Given the description of an element on the screen output the (x, y) to click on. 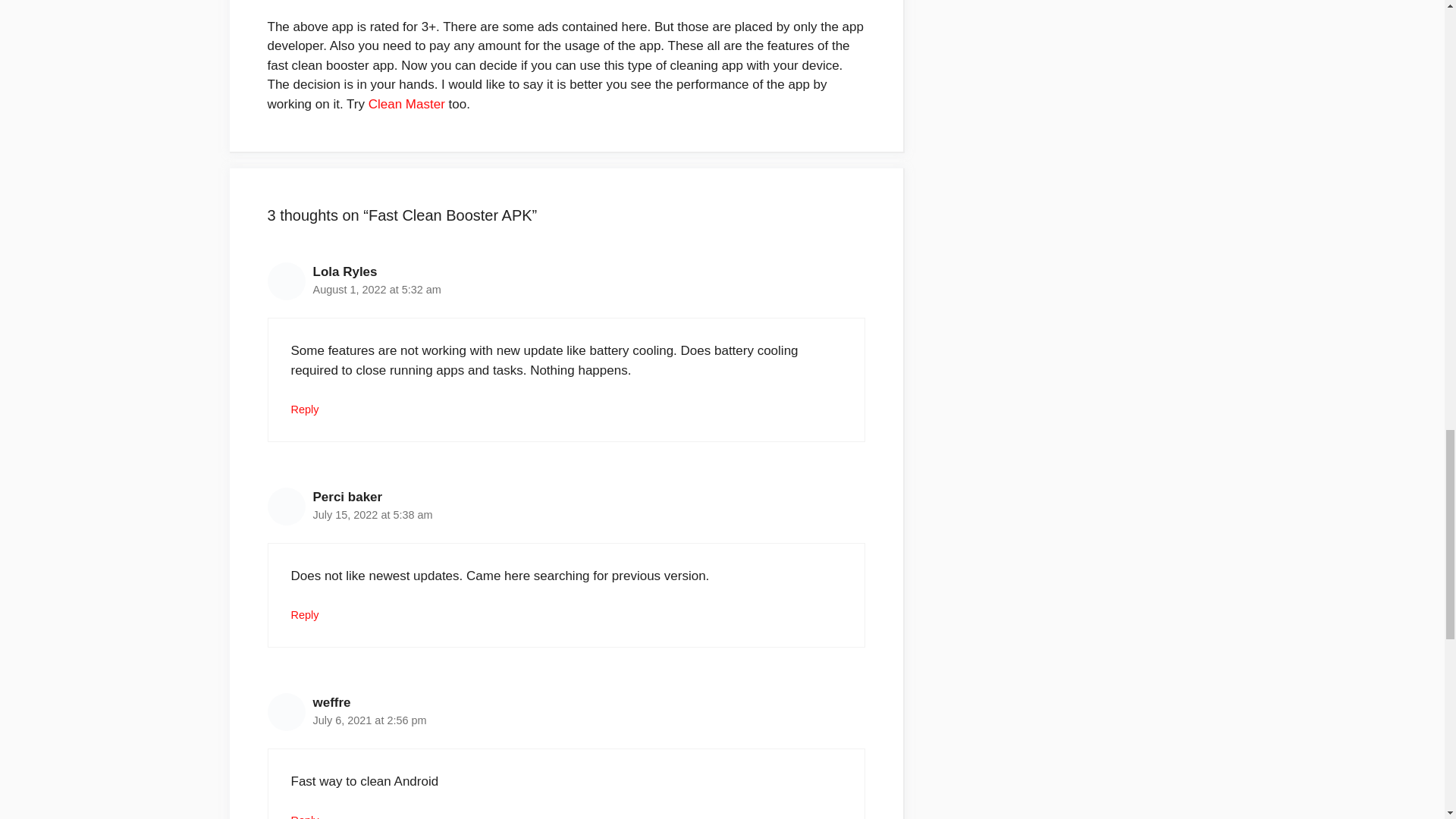
July 6, 2021 at 2:56 pm (369, 720)
August 1, 2022 at 5:32 am (377, 289)
Reply (304, 816)
Reply (304, 614)
Reply (304, 409)
July 15, 2022 at 5:38 am (372, 514)
Clean Master (406, 104)
